Given the description of an element on the screen output the (x, y) to click on. 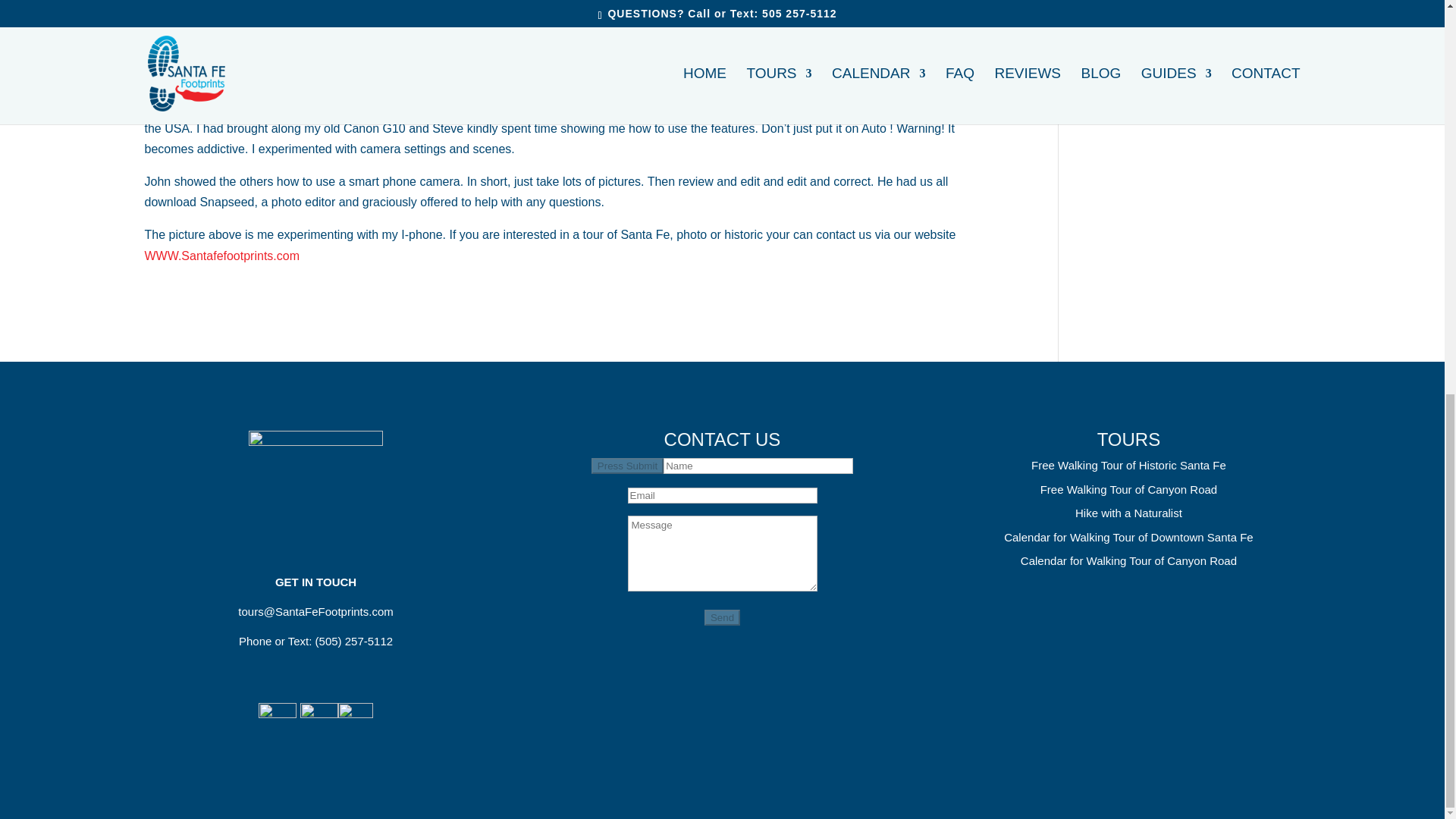
Send (721, 617)
Press Submit (627, 465)
WWW.Santafefootprints.com (221, 255)
